Given the description of an element on the screen output the (x, y) to click on. 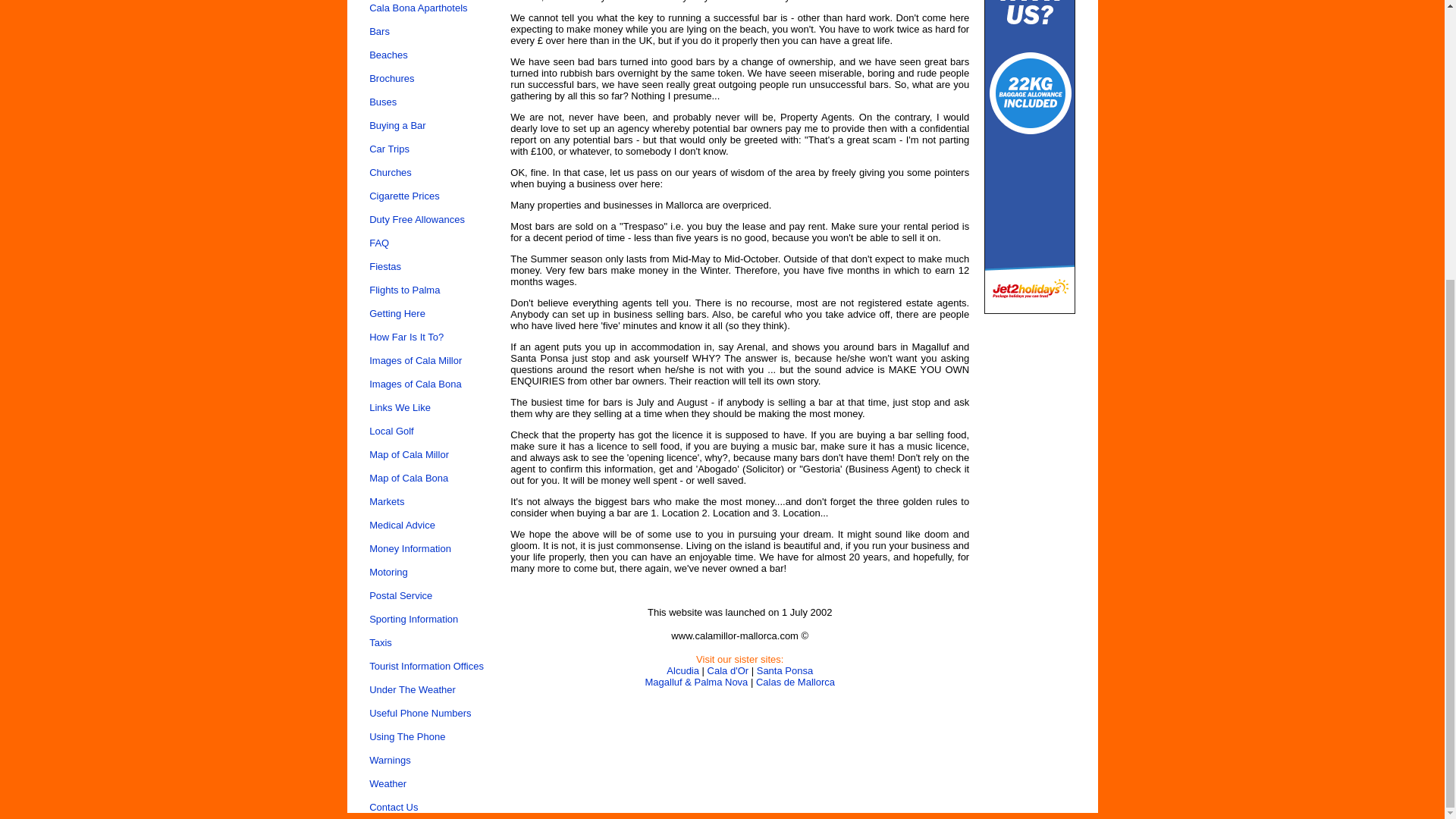
FAQ (378, 242)
Duty Free Allowances (416, 219)
Local Golf (391, 430)
Warnings (389, 759)
Fiestas (385, 266)
Buses (382, 101)
Bars (379, 30)
Tourist Information Offices (426, 665)
Beaches (388, 54)
Map of Cala Millor (408, 454)
Useful Phone Numbers (419, 713)
Brochures (391, 78)
Buying a Bar in Cala Millor (397, 125)
Taxis (380, 642)
Cala Bona Aparthotels (418, 7)
